Given the description of an element on the screen output the (x, y) to click on. 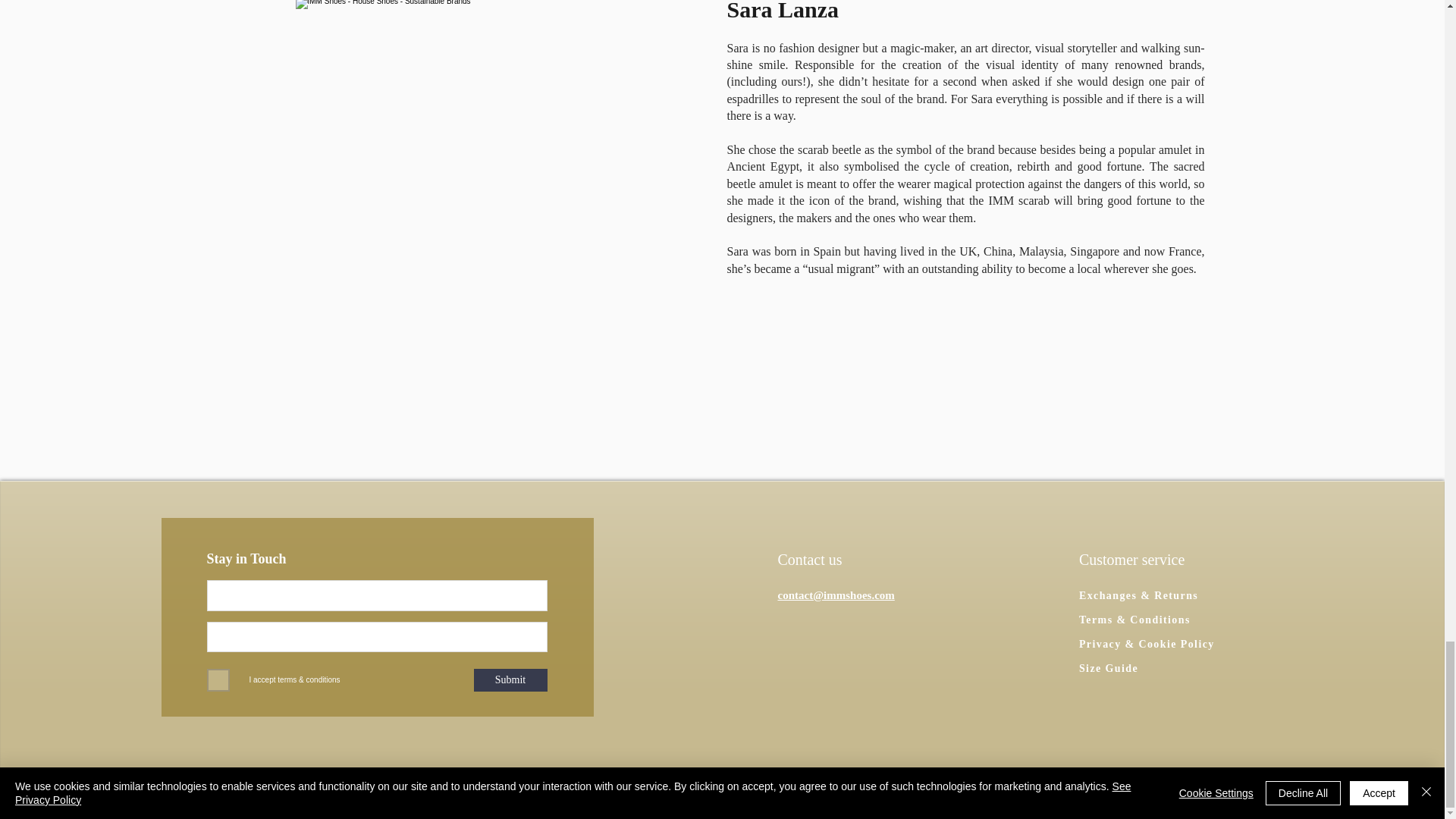
Submit (510, 680)
Size Guide (1194, 668)
